Given the description of an element on the screen output the (x, y) to click on. 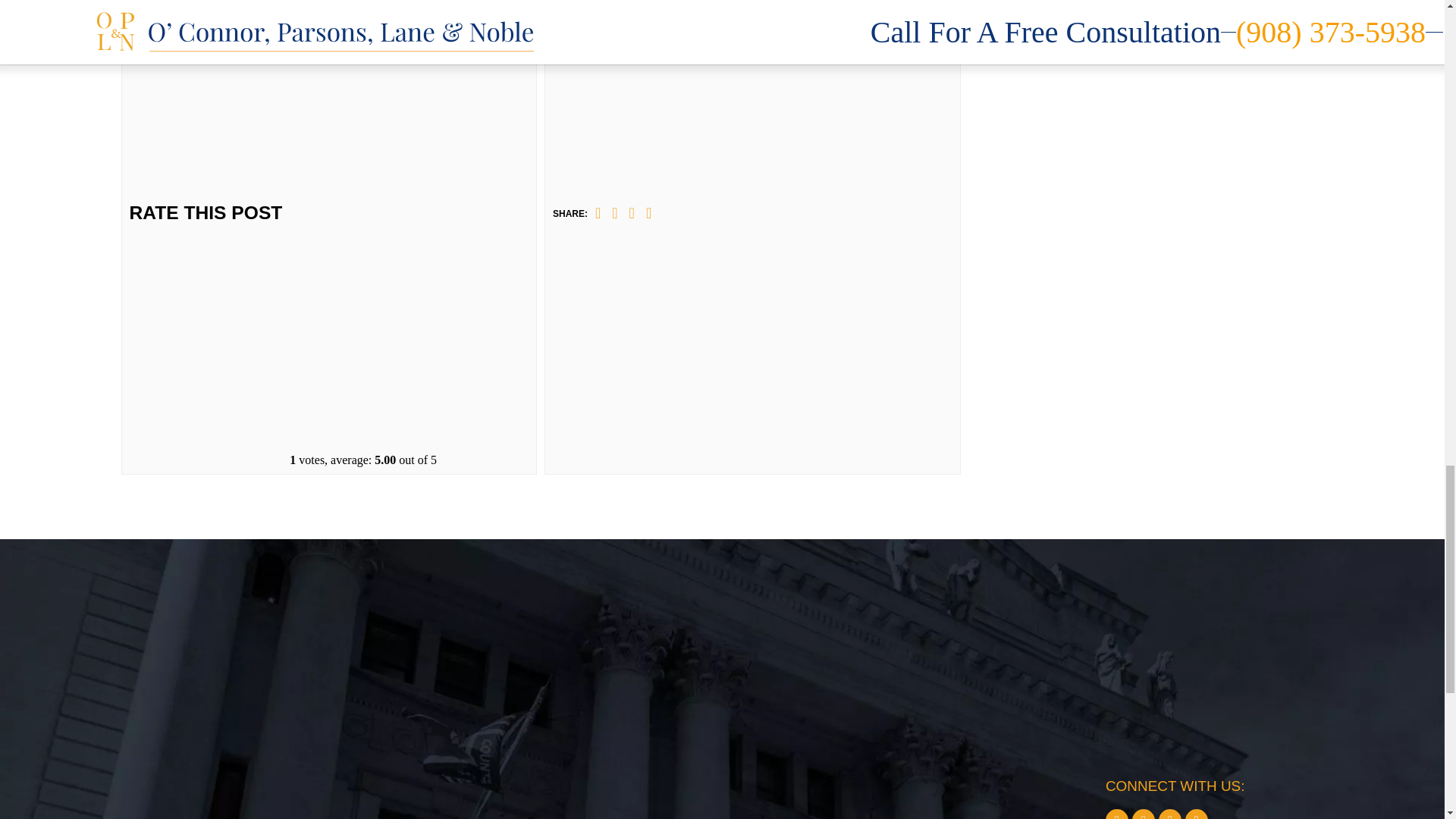
Facebook (597, 212)
5 Stars (360, 402)
3 Stars (360, 205)
4 Stars (360, 304)
LinkedIn (631, 212)
Email (648, 212)
1 Star (360, 28)
Twitter (614, 212)
2 Stars (360, 107)
